Given the description of an element on the screen output the (x, y) to click on. 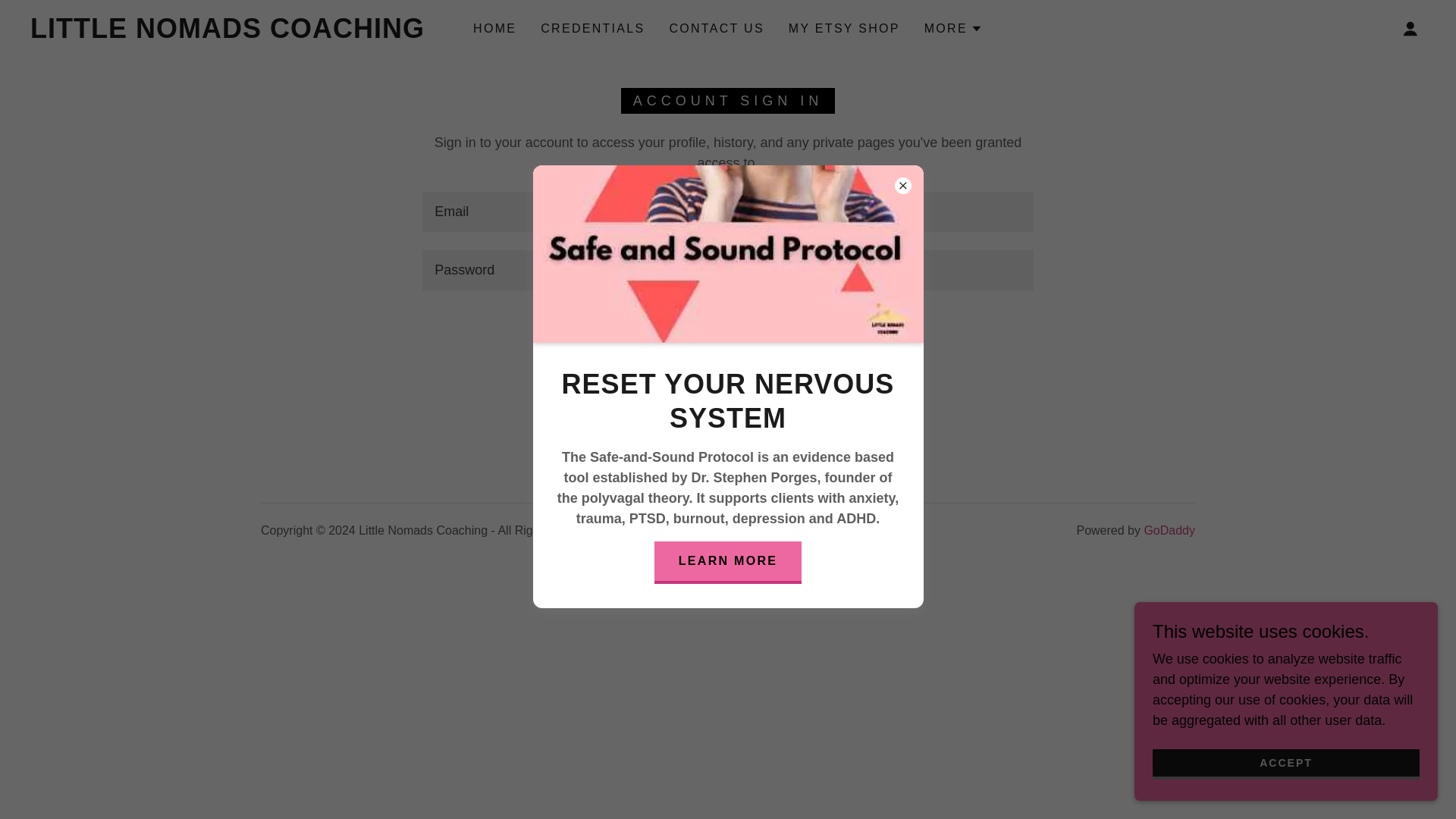
LEARN MORE (727, 562)
SIGN IN (727, 329)
ACCEPT (1286, 764)
GoDaddy (1168, 530)
HOME (494, 28)
MY ETSY SHOP (844, 28)
CONTACT US (715, 28)
LITTLE NOMADS COACHING (227, 32)
MORE (953, 28)
Create account. (777, 425)
CREDENTIALS (592, 28)
Little Nomads Coaching (227, 32)
Reset password (727, 376)
